Given the description of an element on the screen output the (x, y) to click on. 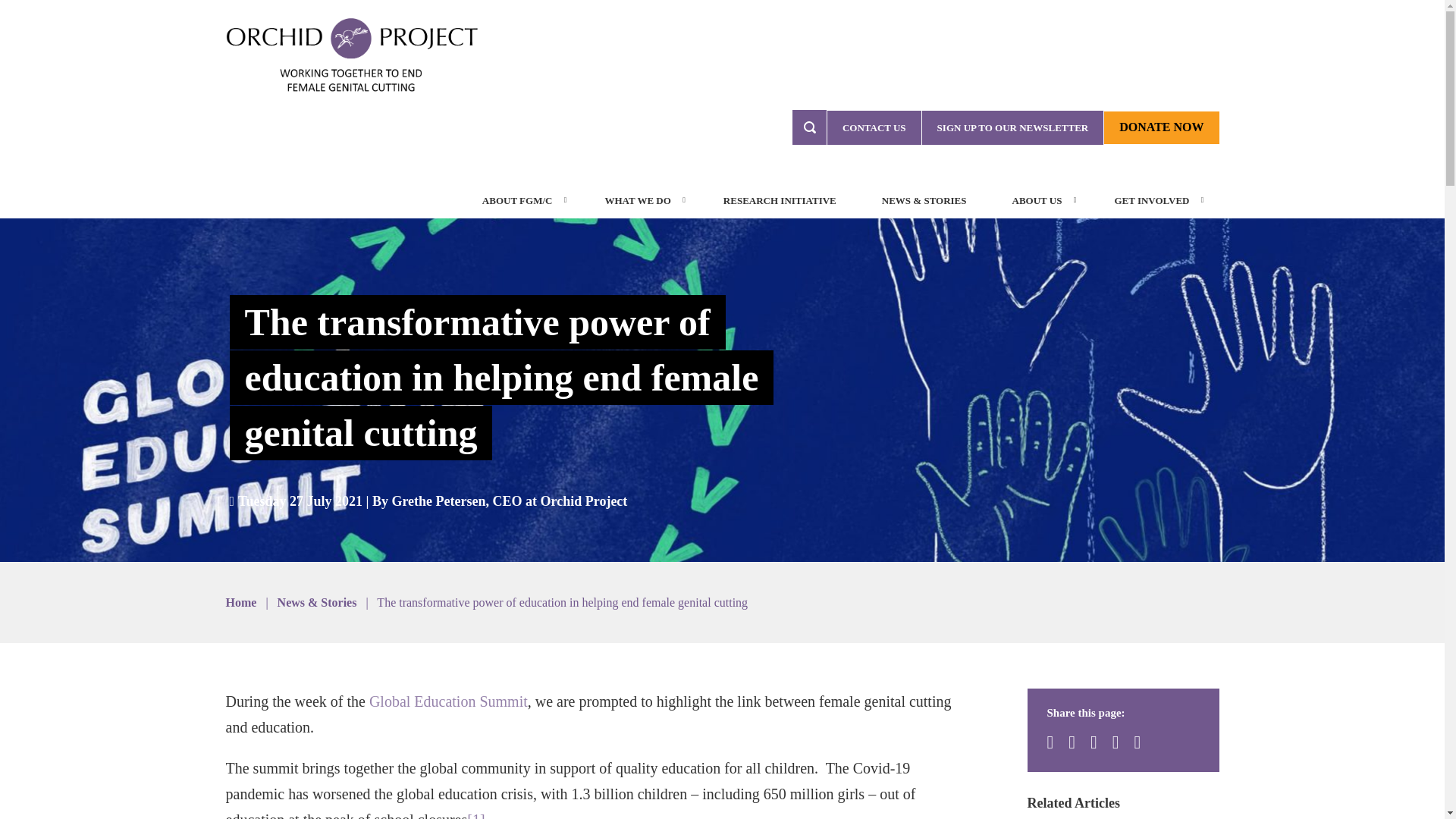
CONTACT US (874, 127)
DONATE NOW (1160, 127)
SIGN UP TO OUR NEWSLETTER (1012, 127)
Type keywords... (809, 126)
